Given the description of an element on the screen output the (x, y) to click on. 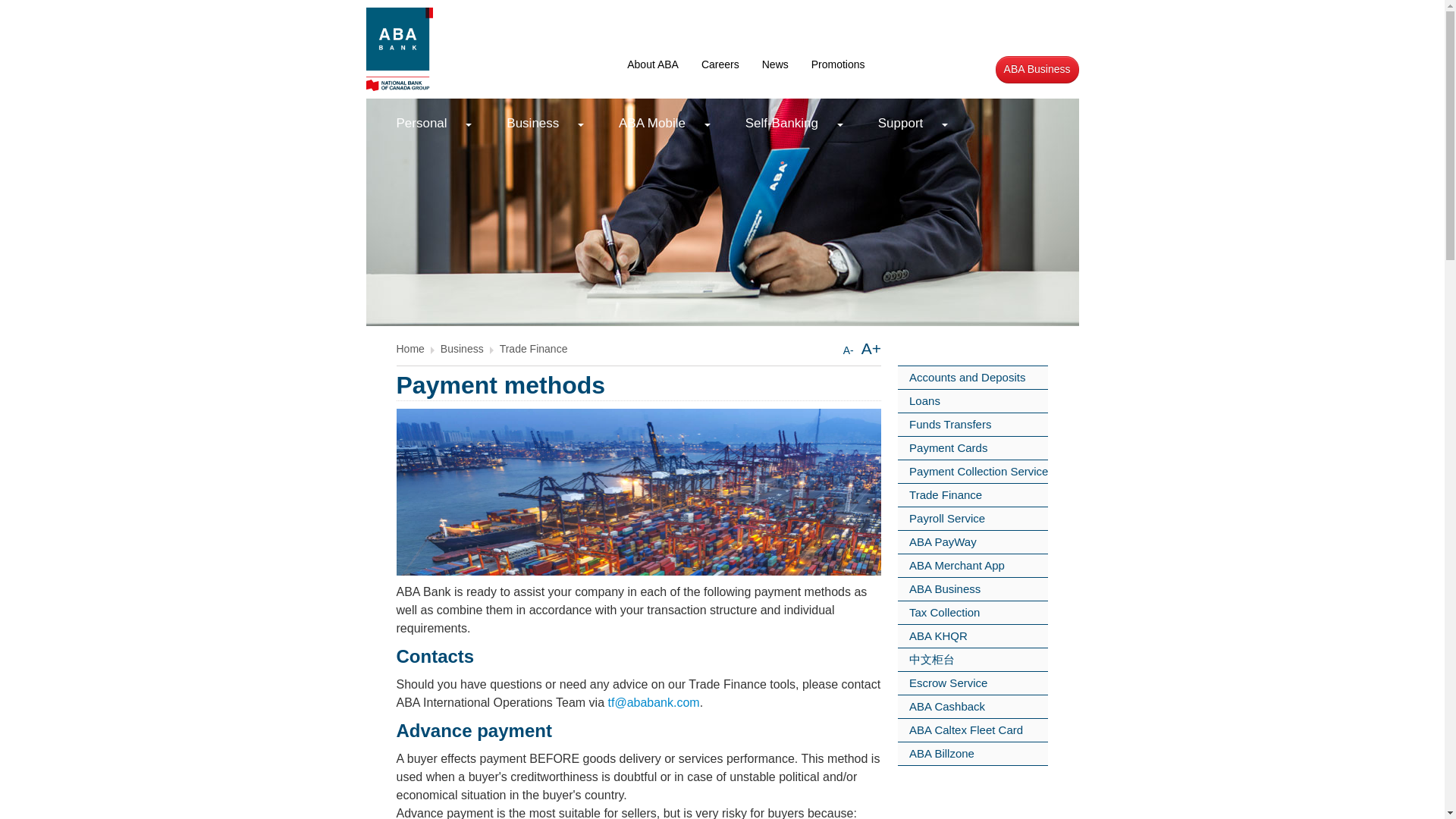
Careers (720, 64)
News (775, 64)
Business (462, 348)
Search (939, 64)
Personal  (427, 124)
About ABA (652, 64)
Search (939, 64)
Trade Finance (533, 348)
ABA Business (1036, 69)
Careers (720, 64)
News (775, 64)
Home (409, 348)
Increase Font Size (870, 348)
Promotions (837, 64)
Promotions (837, 64)
